Given the description of an element on the screen output the (x, y) to click on. 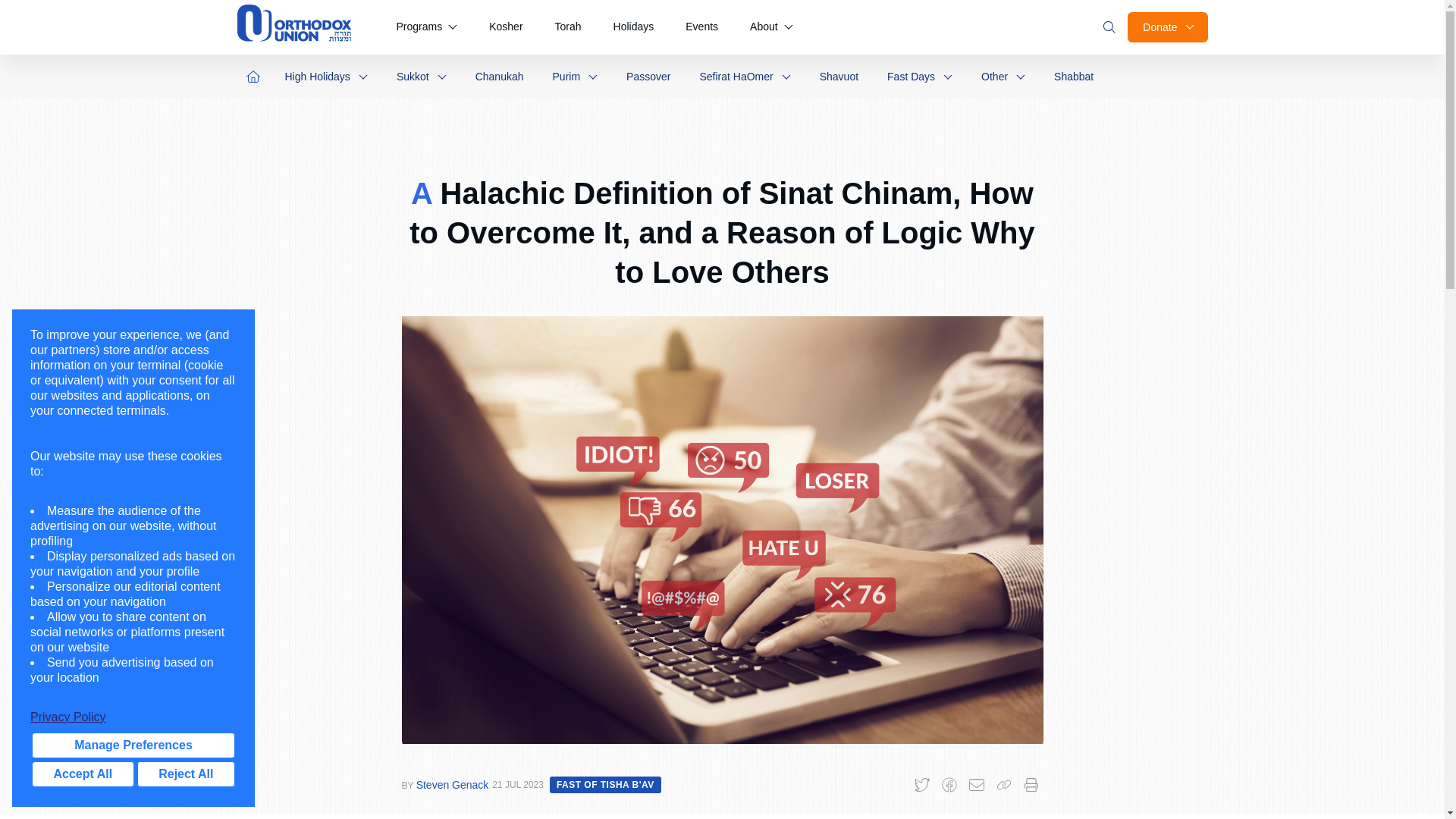
Posts by Steven Genack (452, 784)
Accept All (82, 774)
About (771, 27)
Events (701, 27)
Kosher (505, 27)
Torah (568, 27)
Privacy Policy (132, 717)
Programs (425, 27)
Manage Preferences (133, 745)
Reject All (185, 774)
